Given the description of an element on the screen output the (x, y) to click on. 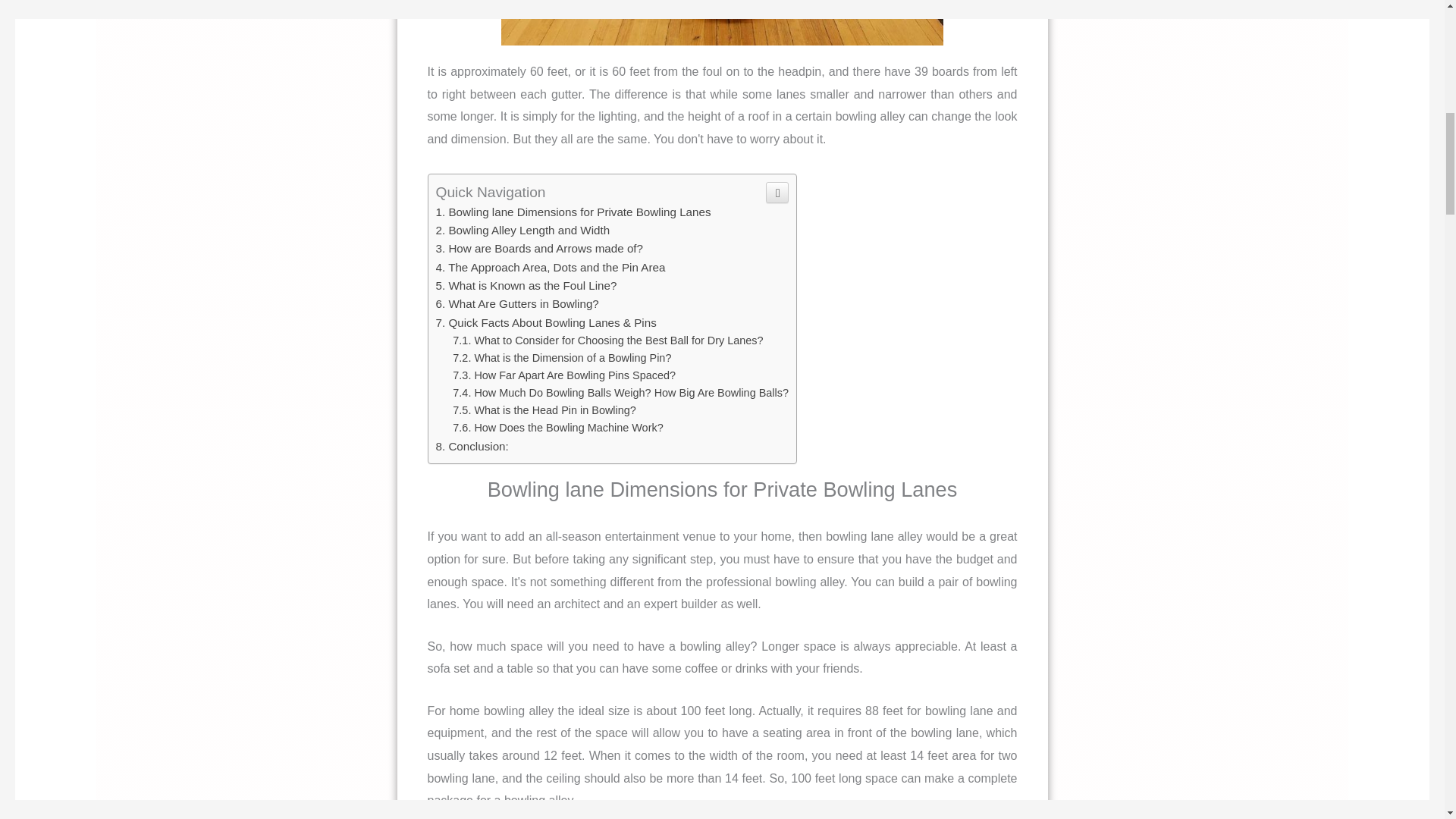
The Approach Area, Dots and the Pin Area (550, 267)
Bowling Alley Length and Width (522, 229)
Bowling lane Dimensions for Private Bowling Lanes (572, 211)
How Far Apart Are Bowling Pins Spaced? (563, 375)
What is the Head Pin in Bowling? (544, 410)
What is the Head Pin in Bowling? (544, 410)
How Does the Bowling Machine Work?  (557, 427)
How Far Apart Are Bowling Pins Spaced? (563, 375)
How are Boards and Arrows made of? (539, 247)
What is the Dimension of a Bowling Pin? (561, 357)
How Long is a Bowling Lane (721, 22)
How Does the Bowling Machine Work? (557, 427)
Conclusion: (471, 445)
What to Consider for Choosing the Best Ball for Dry Lanes? (607, 340)
Bowling Alley Length and Width (522, 229)
